Given the description of an element on the screen output the (x, y) to click on. 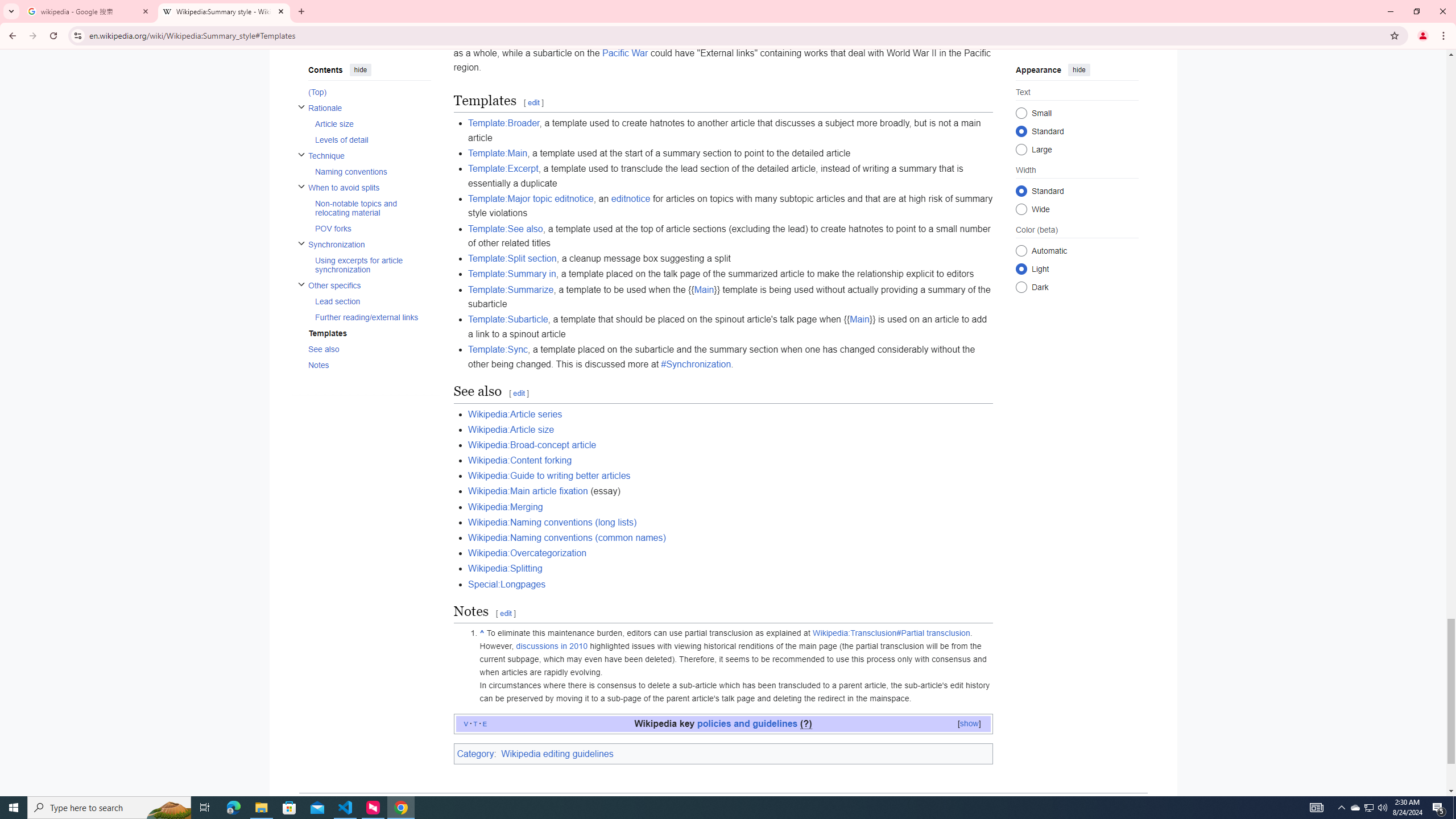
t (475, 723)
AutomationID: toc-See_also (365, 348)
Rationale (368, 107)
Light (1020, 268)
AutomationID: toc-Using_excerpts_for_article_synchronization (368, 264)
Wikipedia:Article series (514, 413)
Templates (368, 333)
Template:Major topic editnotice (530, 198)
Further reading/external links (372, 316)
(Top) (368, 91)
AutomationID: toc-Further_reading/external_links (368, 316)
hide (1078, 69)
Template:Summarize (510, 289)
